Given the description of an element on the screen output the (x, y) to click on. 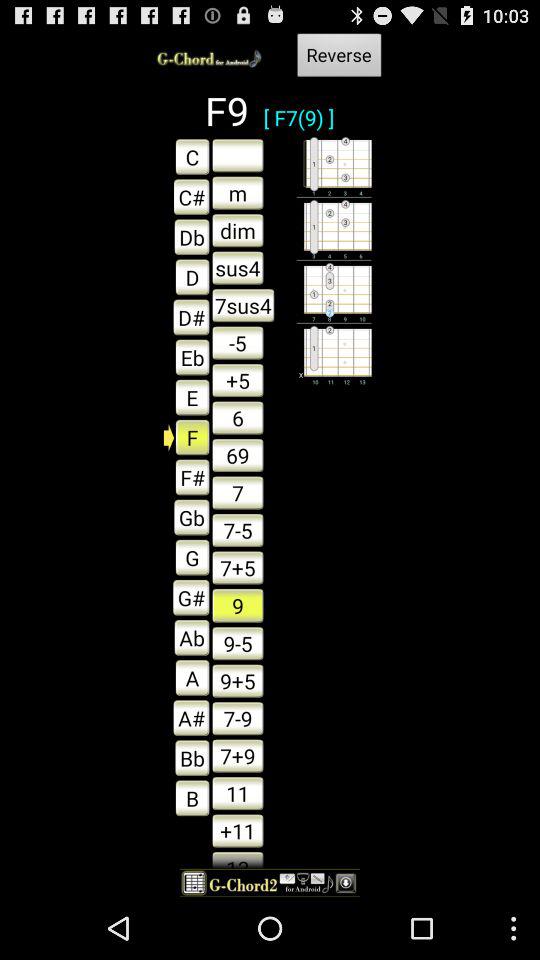
launch the item below +11 item (237, 858)
